Given the description of an element on the screen output the (x, y) to click on. 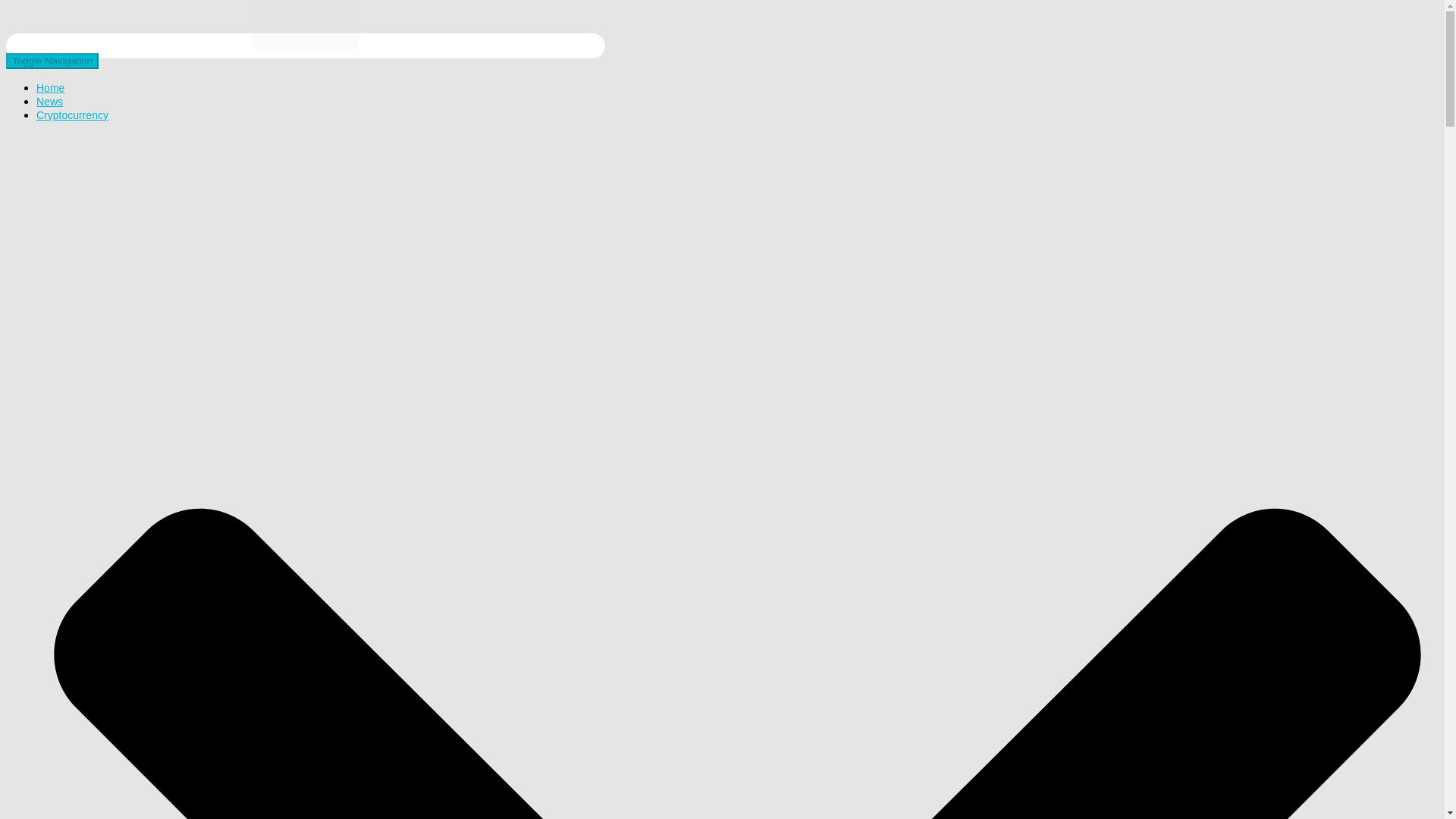
Cyber Flows (305, 45)
News (49, 101)
Toggle Navigation (52, 60)
Home (50, 87)
News (49, 101)
Home (50, 87)
